Given the description of an element on the screen output the (x, y) to click on. 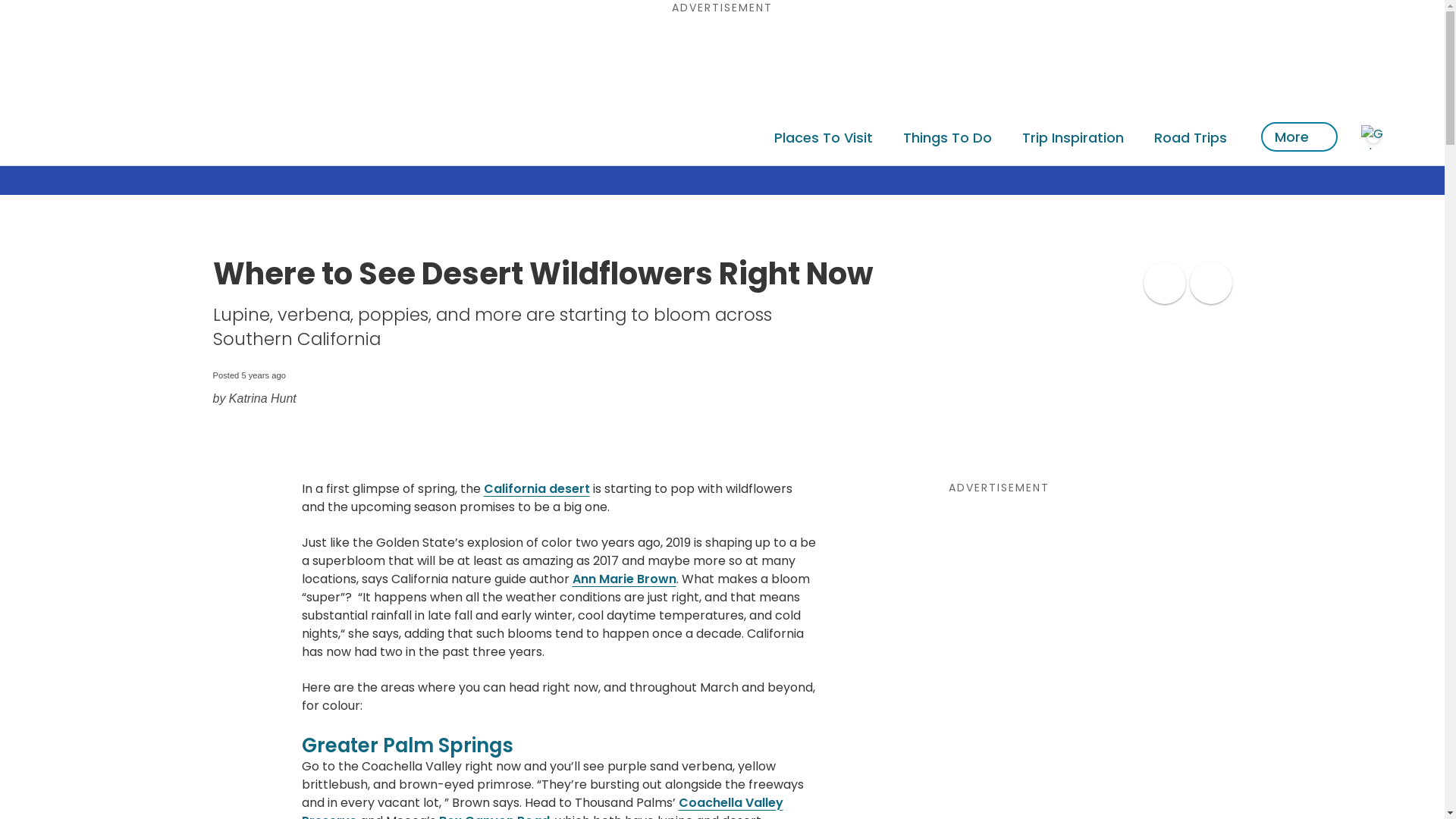
Road Trips (1190, 136)
More (1299, 136)
California desert (536, 488)
Places To Visit (823, 136)
on (1210, 282)
Trip Inspiration (1071, 136)
Things To Do (947, 136)
